Given the description of an element on the screen output the (x, y) to click on. 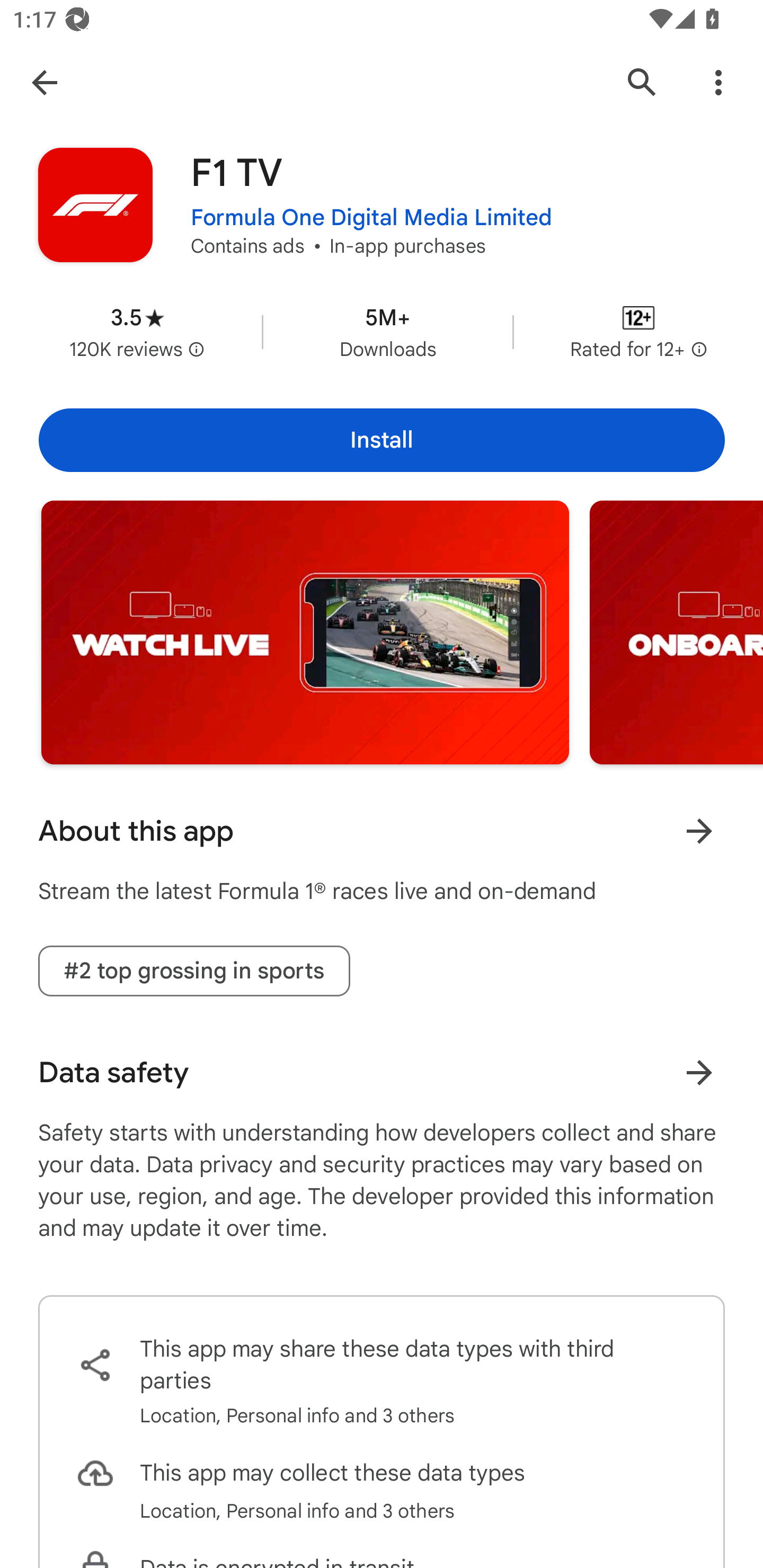
Navigate up (44, 81)
Search Google Play (642, 81)
More Options (718, 81)
Formula One Digital Media Limited (371, 217)
Average rating 3.5 stars in 120 thousand reviews (137, 331)
Content rating Rated for 12+ (638, 331)
Install (381, 439)
Screenshot "1" of "5" (305, 632)
About this app Learn more About this app (381, 830)
Learn more About this app (699, 830)
#2 top grossing in sports tag (194, 970)
Data safety Learn more about data safety (381, 1072)
Learn more about data safety (699, 1072)
